Given the description of an element on the screen output the (x, y) to click on. 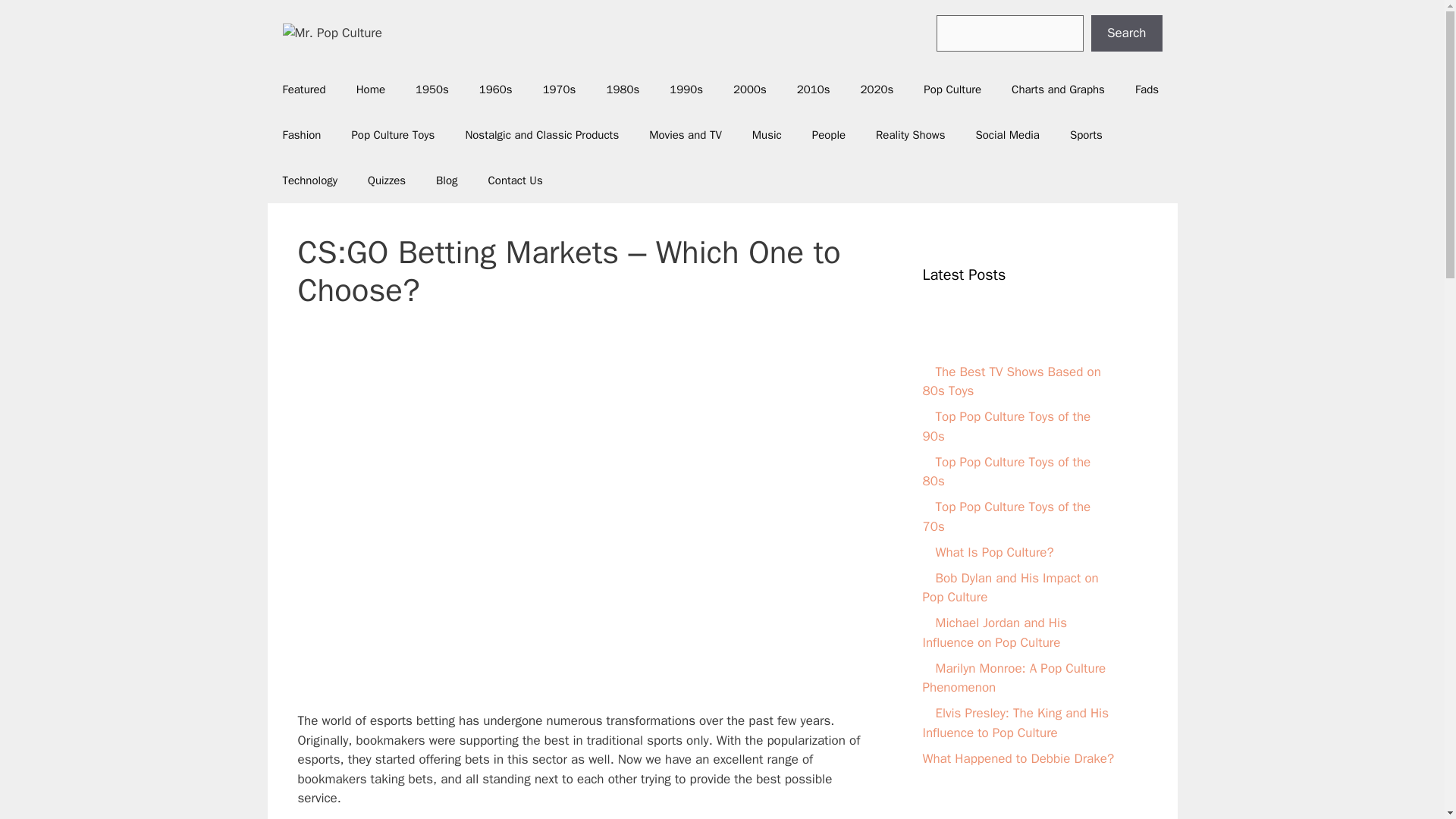
1970s (559, 89)
Fashion (301, 135)
2000s (749, 89)
2010s (813, 89)
Pop Culture Toys (392, 135)
Home (370, 89)
Blog (445, 180)
Top Pop Culture Toys of the 80s (1005, 470)
1980s (622, 89)
Sports (1086, 135)
